Given the description of an element on the screen output the (x, y) to click on. 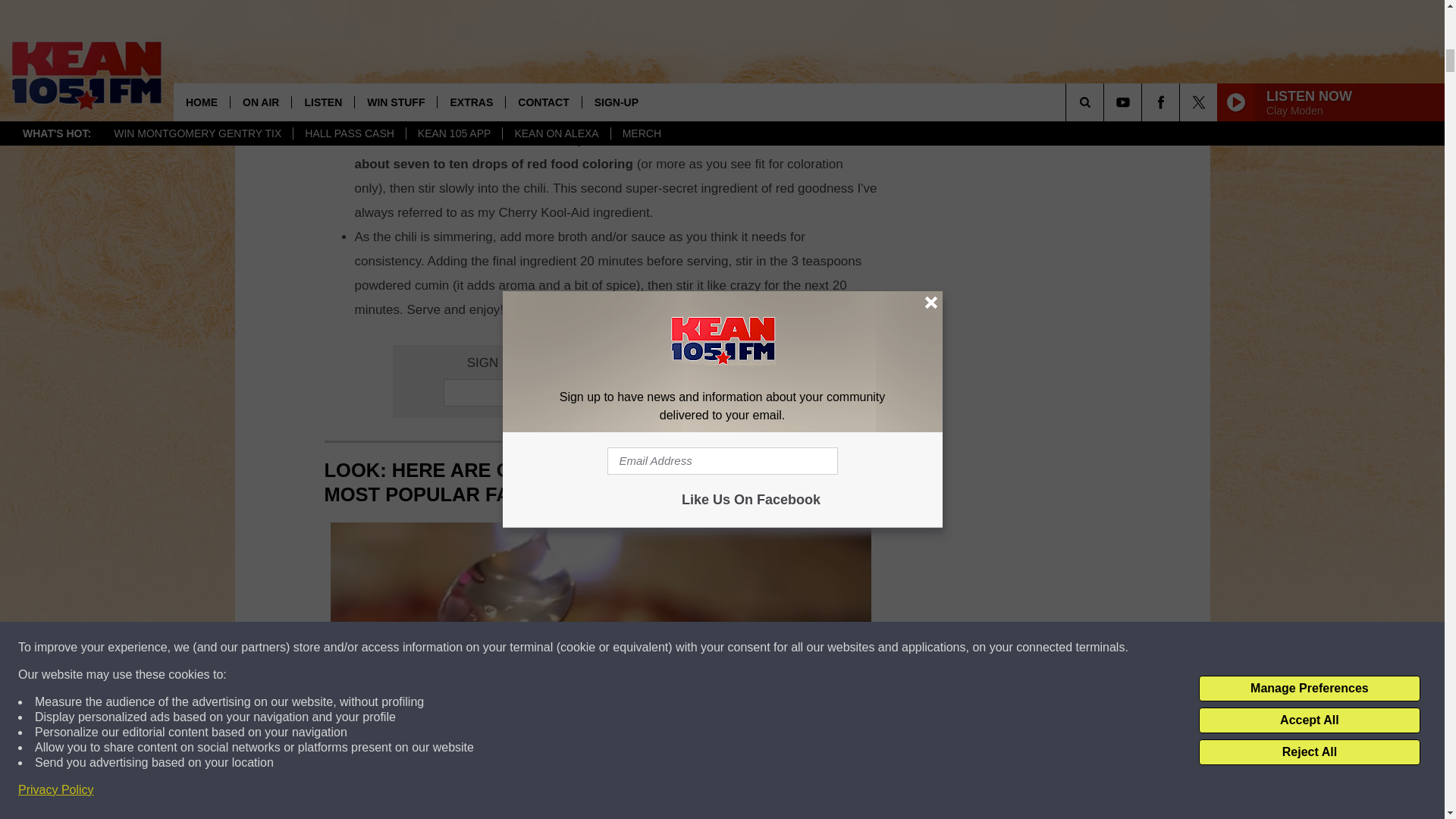
Email Address (600, 392)
